Given the description of an element on the screen output the (x, y) to click on. 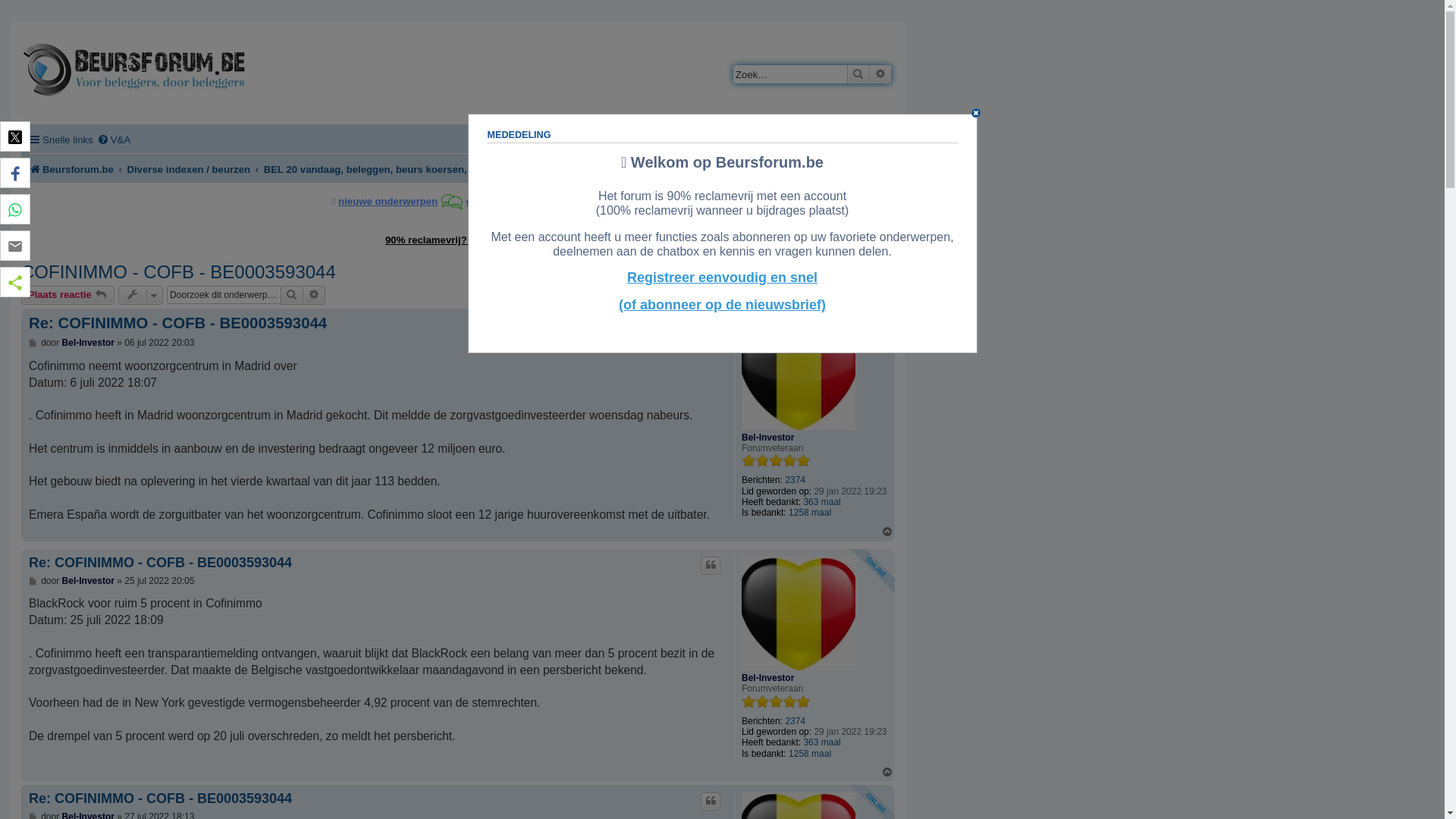
16 Element type: text (866, 295)
Bericht Element type: text (33, 580)
beurs vandaag Element type: text (548, 200)
Plaats reactie Element type: text (67, 294)
Bericht Element type: text (33, 342)
nieuwe onderwerpen Element type: text (387, 200)
Re: COFINIMMO - COFB - BE0003593044 Element type: text (159, 562)
1 Element type: text (741, 295)
Vorige Element type: text (724, 295)
363 maal Element type: text (821, 501)
Snelle links Element type: text (60, 139)
Uitgebreid zoeken Element type: text (880, 74)
Bel-Investor Element type: text (88, 342)
Re: COFINIMMO - COFB - BE0003593044 Element type: text (159, 798)
7 Element type: text (836, 295)
90% reclamevrij? registreer nu Element type: text (457, 239)
Forumveteraan Element type: hover (775, 701)
Bel-Investor Element type: text (767, 677)
V&A Element type: text (113, 139)
4 Element type: text (785, 295)
2374 Element type: text (794, 720)
Diverse indexen / beurzen Element type: text (188, 169)
Citeer Element type: text (710, 565)
Actieve onderwerpen Element type: text (738, 169)
(of abonneer op de nieuwsbrief) Element type: text (721, 305)
Registreer eenvoudig en snel Element type: text (722, 277)
3 Element type: text (769, 295)
Citeer Element type: text (710, 324)
Aanmelden Element type: text (779, 139)
Volgende Element type: text (886, 295)
Bel-Investor Element type: text (767, 437)
Bel-Investor Element type: text (88, 580)
2374 Element type: text (794, 479)
Omhoog Element type: text (887, 531)
Onderwerpgereedschap Element type: hover (140, 294)
Beursforum.be Element type: hover (134, 71)
Forumveteraan Element type: hover (775, 460)
363 maal Element type: text (821, 742)
Omhoog Element type: text (887, 772)
Re: COFINIMMO - COFB - BE0003593044 Element type: text (177, 323)
1258 maal Element type: text (809, 753)
COFINIMMO - COFB - BE0003593044 Element type: text (178, 271)
Citeer Element type: text (710, 801)
Pagina van Element type: text (698, 294)
6 Element type: text (819, 295)
Beursforum.be Element type: text (70, 169)
Zoek Element type: text (291, 294)
Nachtmodus Element type: text (852, 139)
Zoek op sleutelwoorden Element type: hover (790, 74)
chatbox Element type: text (485, 200)
Uitgebreid zoeken Element type: text (314, 294)
Zoek Element type: text (858, 74)
Registreer Element type: text (712, 139)
1258 maal Element type: text (809, 512)
